Given the description of an element on the screen output the (x, y) to click on. 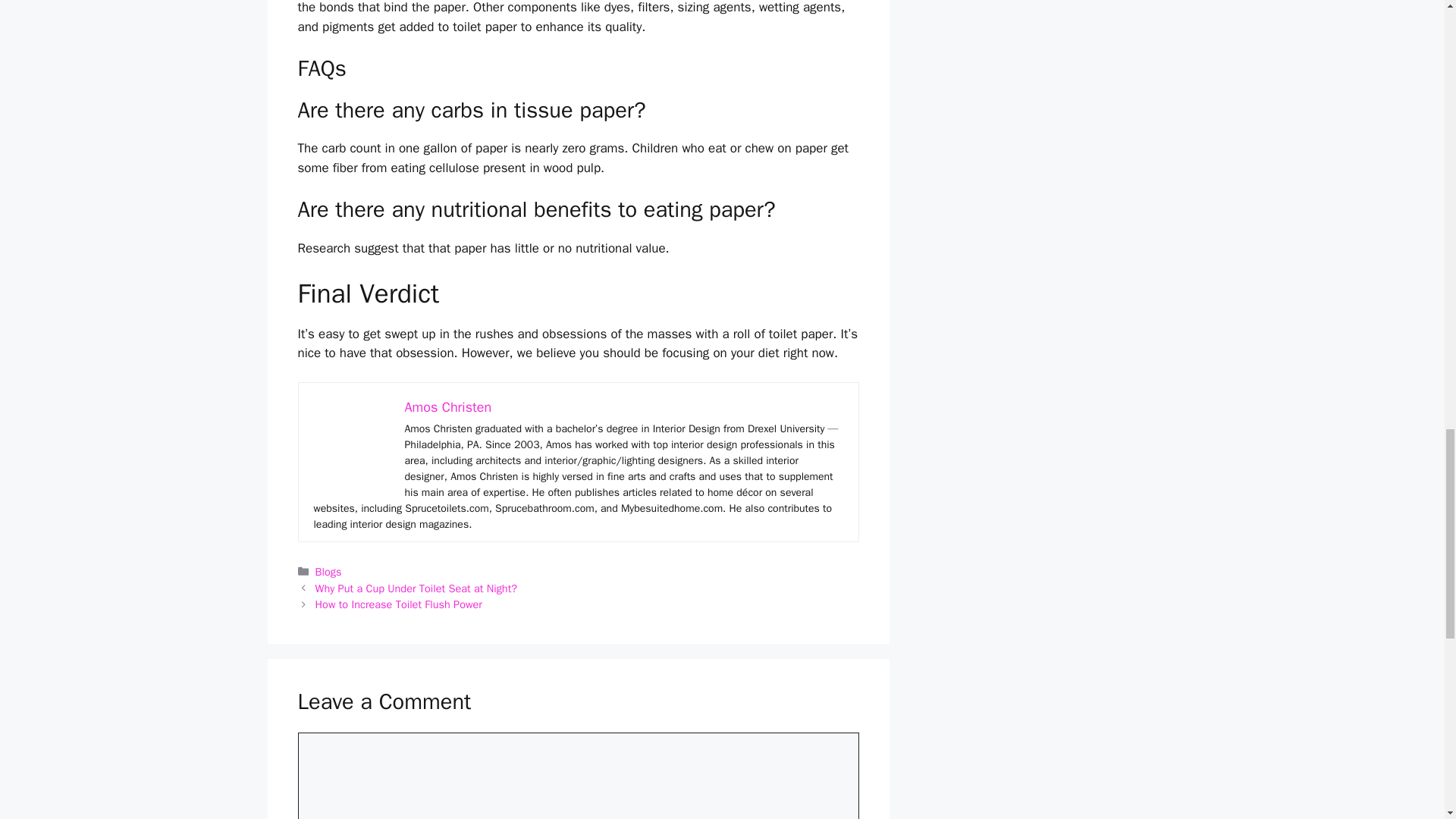
Blogs (328, 571)
How to Increase Toilet Flush Power (398, 603)
Amos Christen (448, 406)
Why Put a Cup Under Toilet Seat at Night? (415, 588)
